Given the description of an element on the screen output the (x, y) to click on. 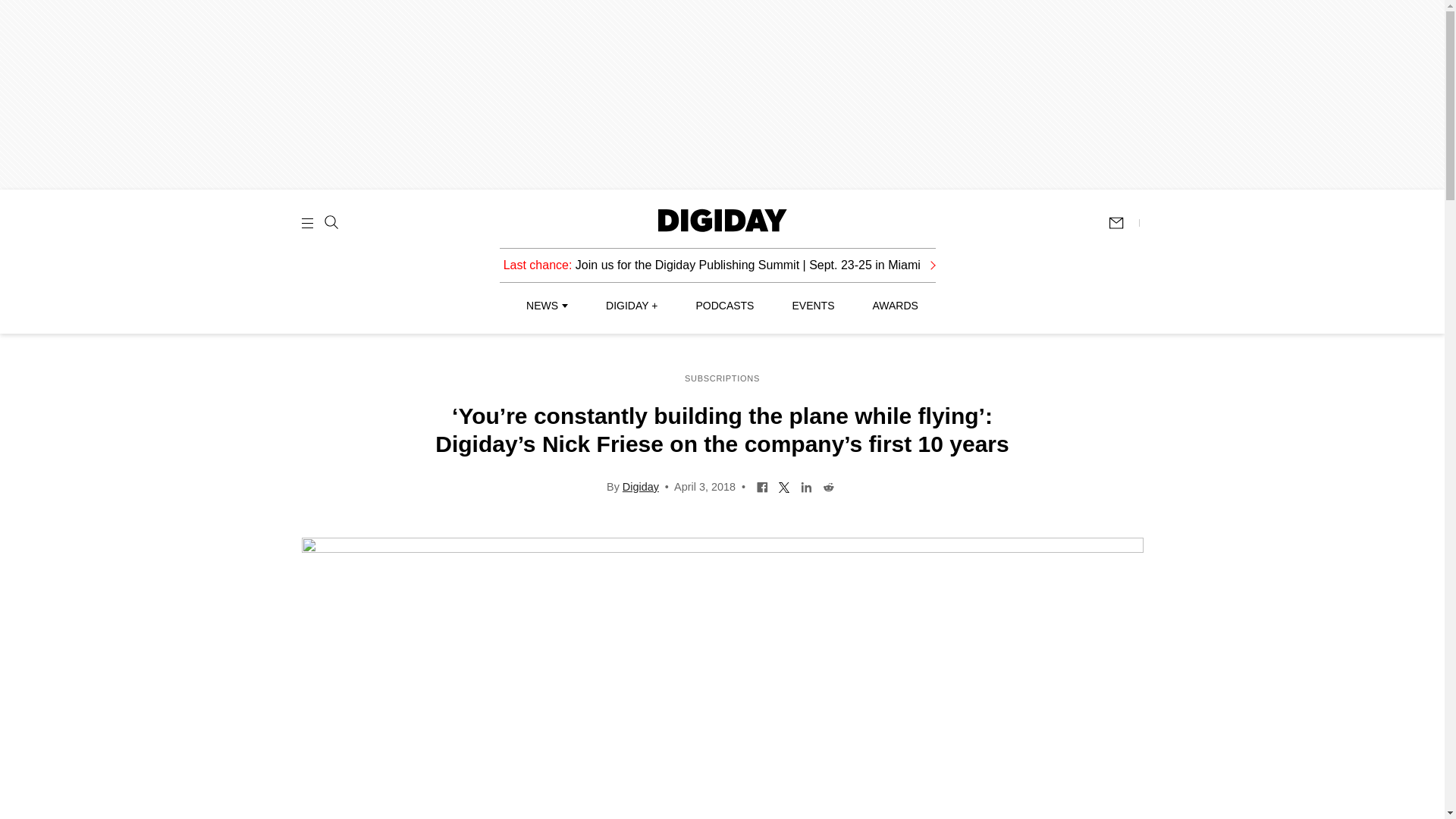
AWARDS (894, 305)
NEWS (546, 305)
Subscribe (1123, 223)
PODCASTS (725, 305)
Share on Twitter (783, 485)
Share on Facebook (761, 485)
EVENTS (813, 305)
Share on Reddit (828, 485)
Share on LinkedIn (805, 485)
